Given the description of an element on the screen output the (x, y) to click on. 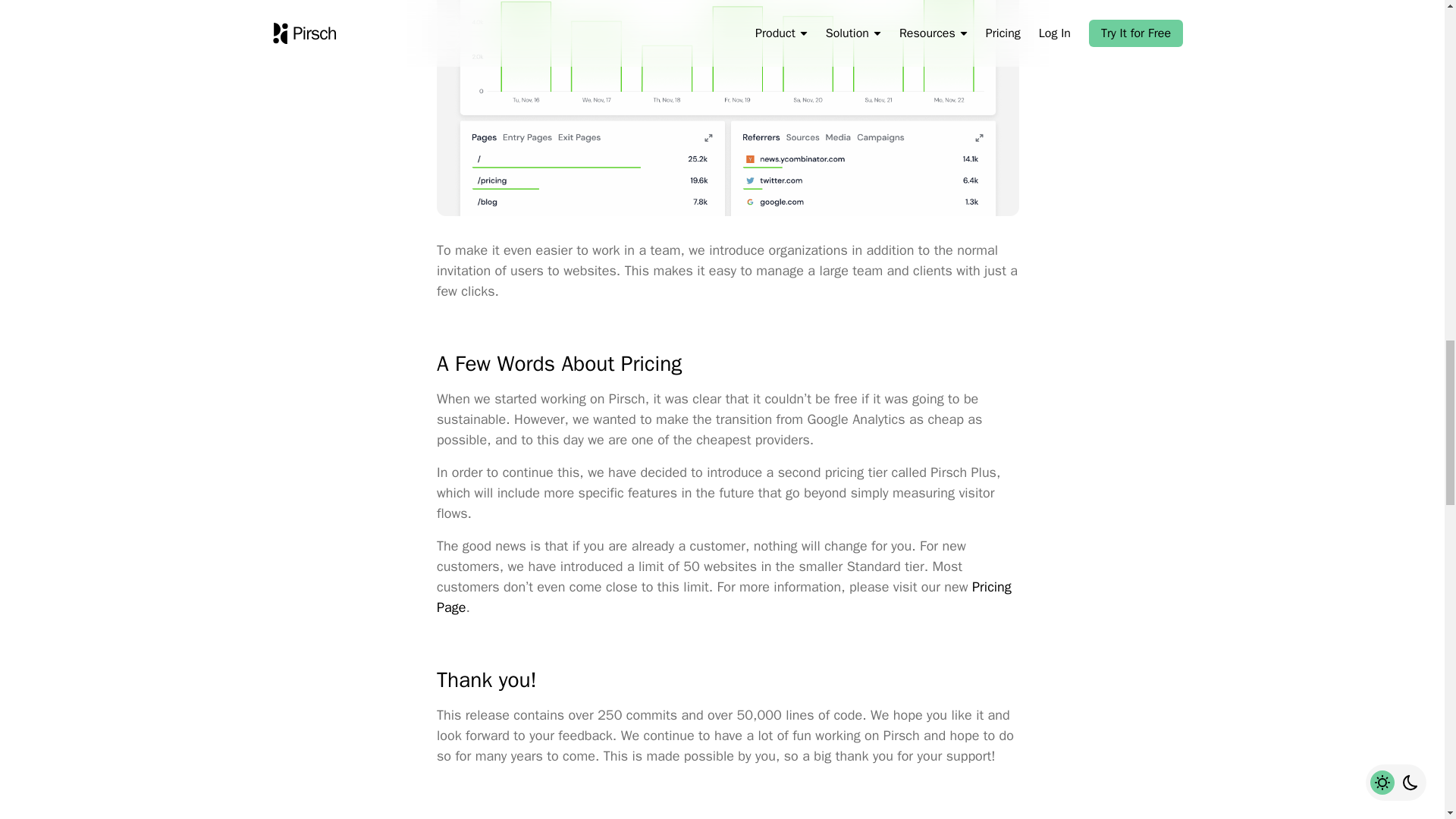
Pricing Page (723, 596)
